Given the description of an element on the screen output the (x, y) to click on. 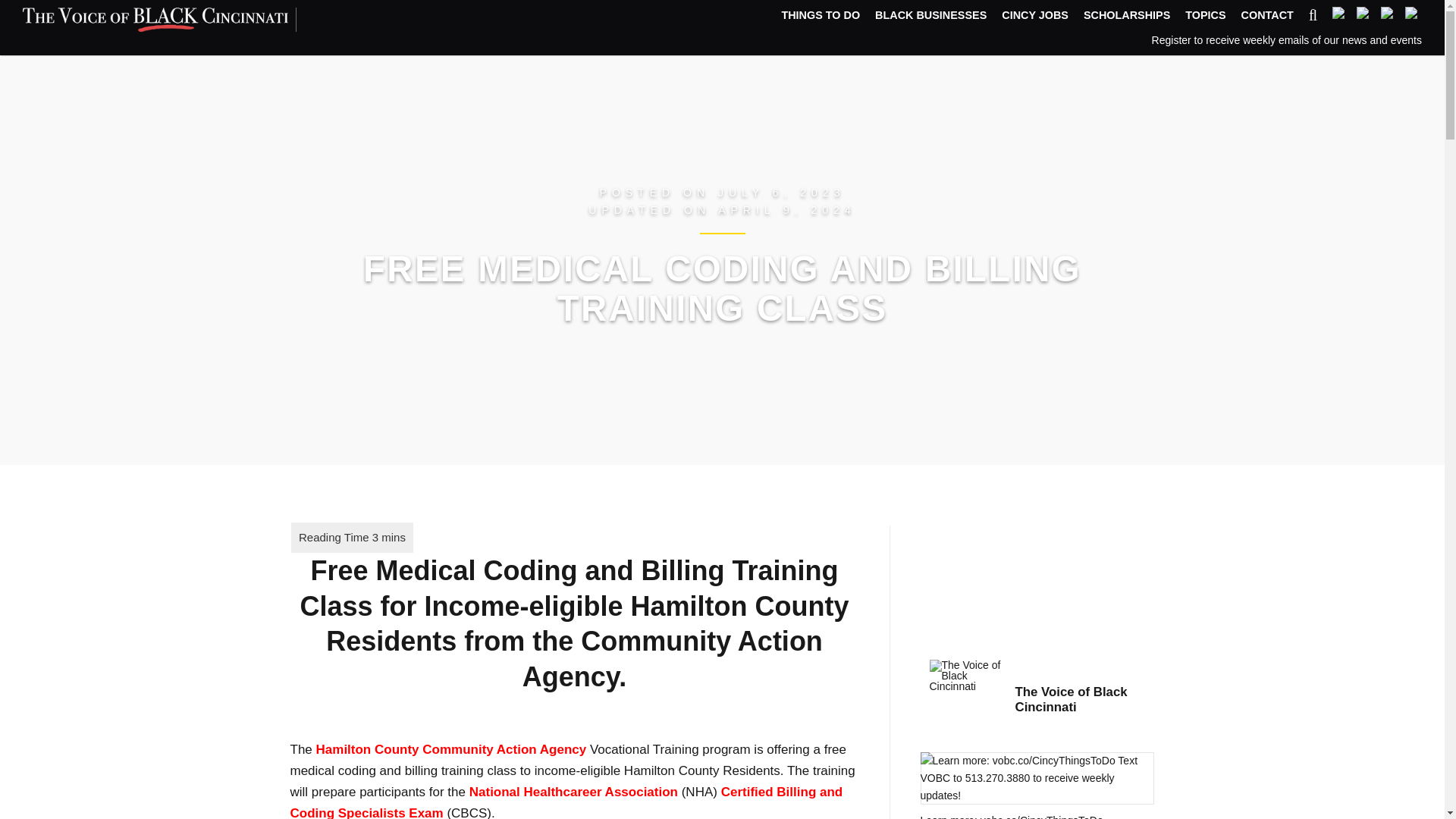
THINGS TO DO (820, 16)
TOPICS (1205, 16)
The Voice of Black Cincinnati (966, 675)
SCHOLARSHIPS (1126, 16)
CINCY JOBS (1034, 16)
The Voice of Black Cincinnati (1084, 700)
BLACK BUSINESSES (931, 16)
